Given the description of an element on the screen output the (x, y) to click on. 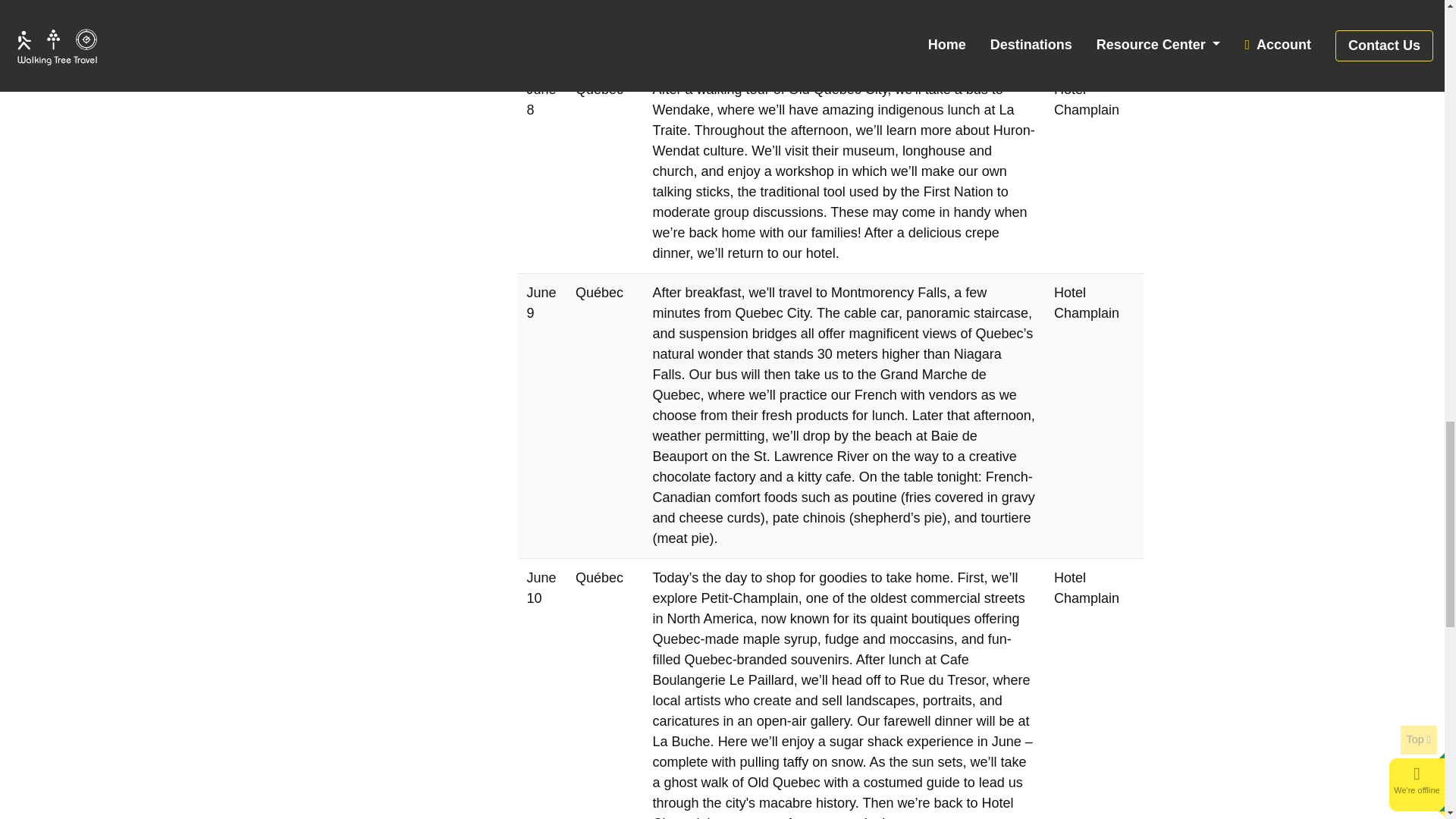
GLC Curriculum (398, 3)
